Given the description of an element on the screen output the (x, y) to click on. 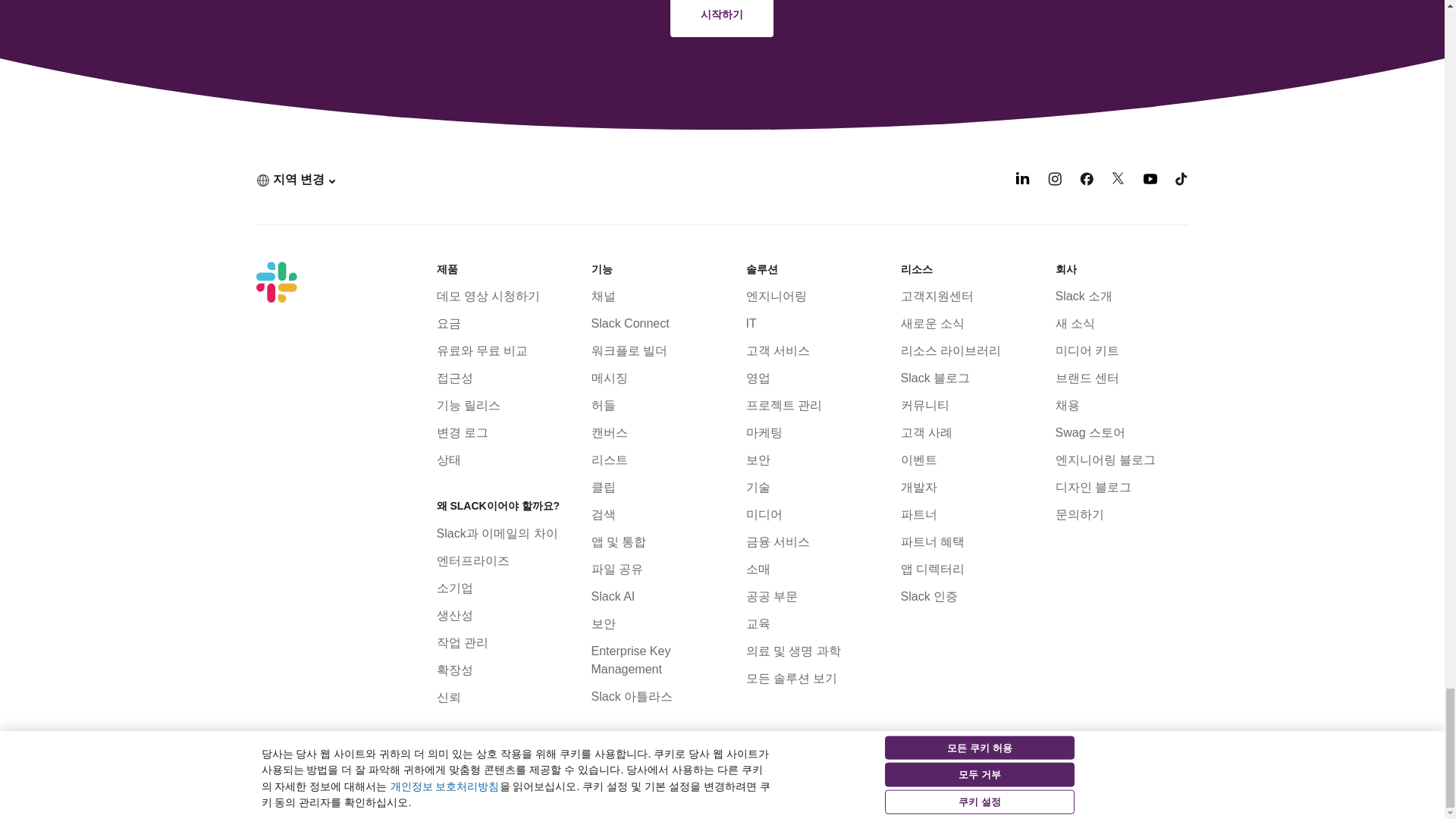
Slack (276, 281)
Facebook (1086, 181)
X (1118, 181)
LinkedIn (1022, 181)
TikTok (1181, 181)
YouTube (1149, 181)
Instagram (1054, 181)
